Given the description of an element on the screen output the (x, y) to click on. 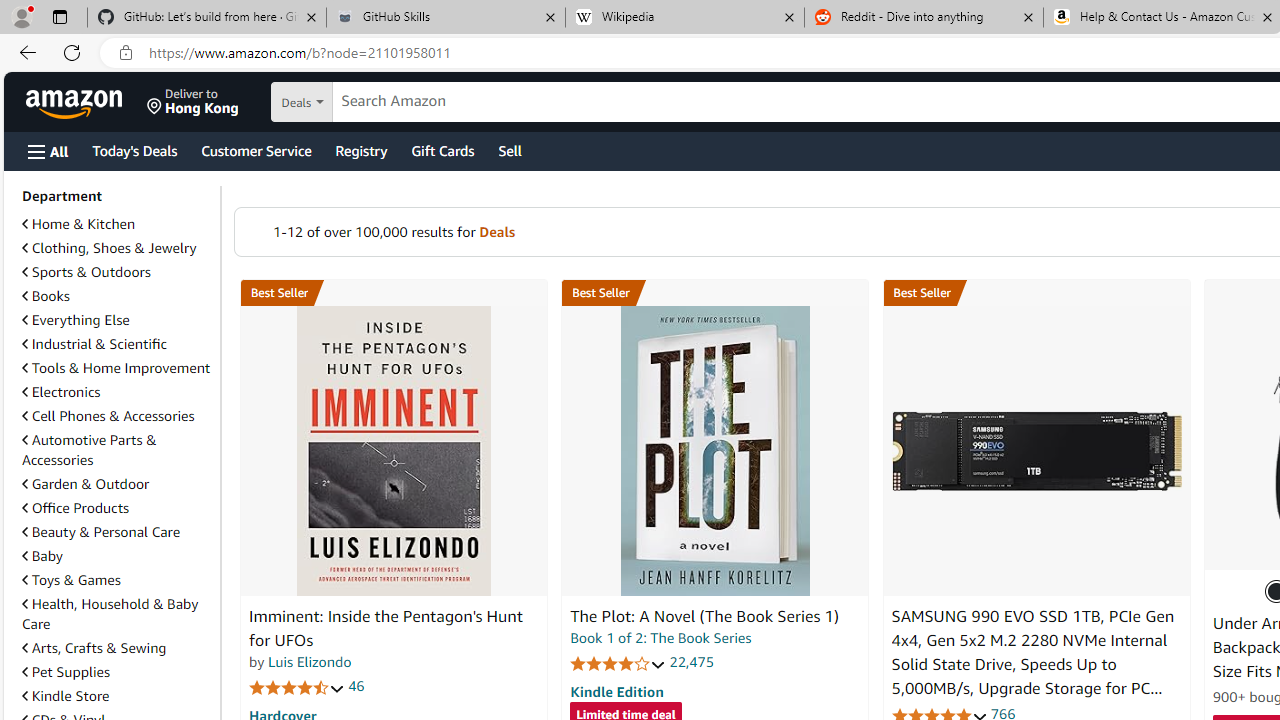
Tools & Home Improvement (116, 368)
4.7 out of 5 stars (297, 686)
Sports & Outdoors (86, 271)
Toys & Games (117, 579)
Pet Supplies (117, 671)
The Plot: A Novel (The Book Series 1) (714, 451)
Cell Phones & Accessories (107, 415)
Best Seller in Internal Solid State Drives (1036, 293)
Home & Kitchen (117, 223)
Books (45, 296)
Beauty & Personal Care (100, 531)
